Given the description of an element on the screen output the (x, y) to click on. 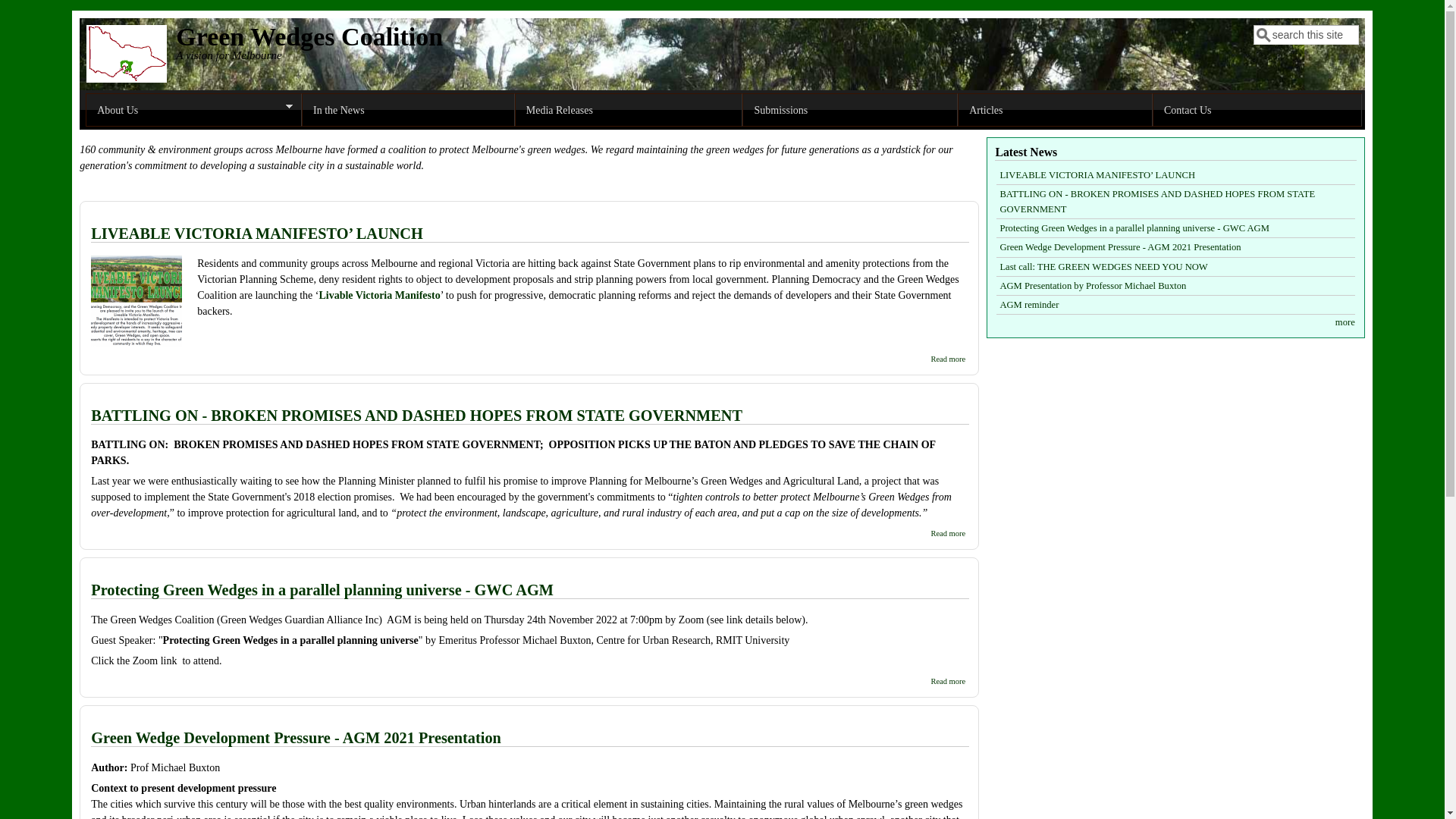
Livable Victoria Manifesto Element type: text (378, 295)
Home Element type: hover (126, 78)
Skip to main content Element type: text (43, 10)
Contact Us Element type: text (1256, 109)
more Element type: text (1345, 321)
AGM reminder Element type: text (1028, 304)
AGM Presentation by Professor Michael Buxton Element type: text (1092, 285)
medium_LV-LaunchInvite.png Element type: text (192, 275)
Last call: THE GREEN WEDGES NEED YOU NOW Element type: text (1103, 266)
Green Wedge Development Pressure - AGM 2021 Presentation Element type: text (1119, 246)
Submissions Element type: text (849, 109)
Media Releases Element type: text (628, 109)
In the News Element type: text (407, 109)
Green Wedges Coalition Element type: text (308, 36)
Articles Element type: text (1054, 109)
Green Wedge Development Pressure - AGM 2021 Presentation Element type: text (296, 737)
